Given the description of an element on the screen output the (x, y) to click on. 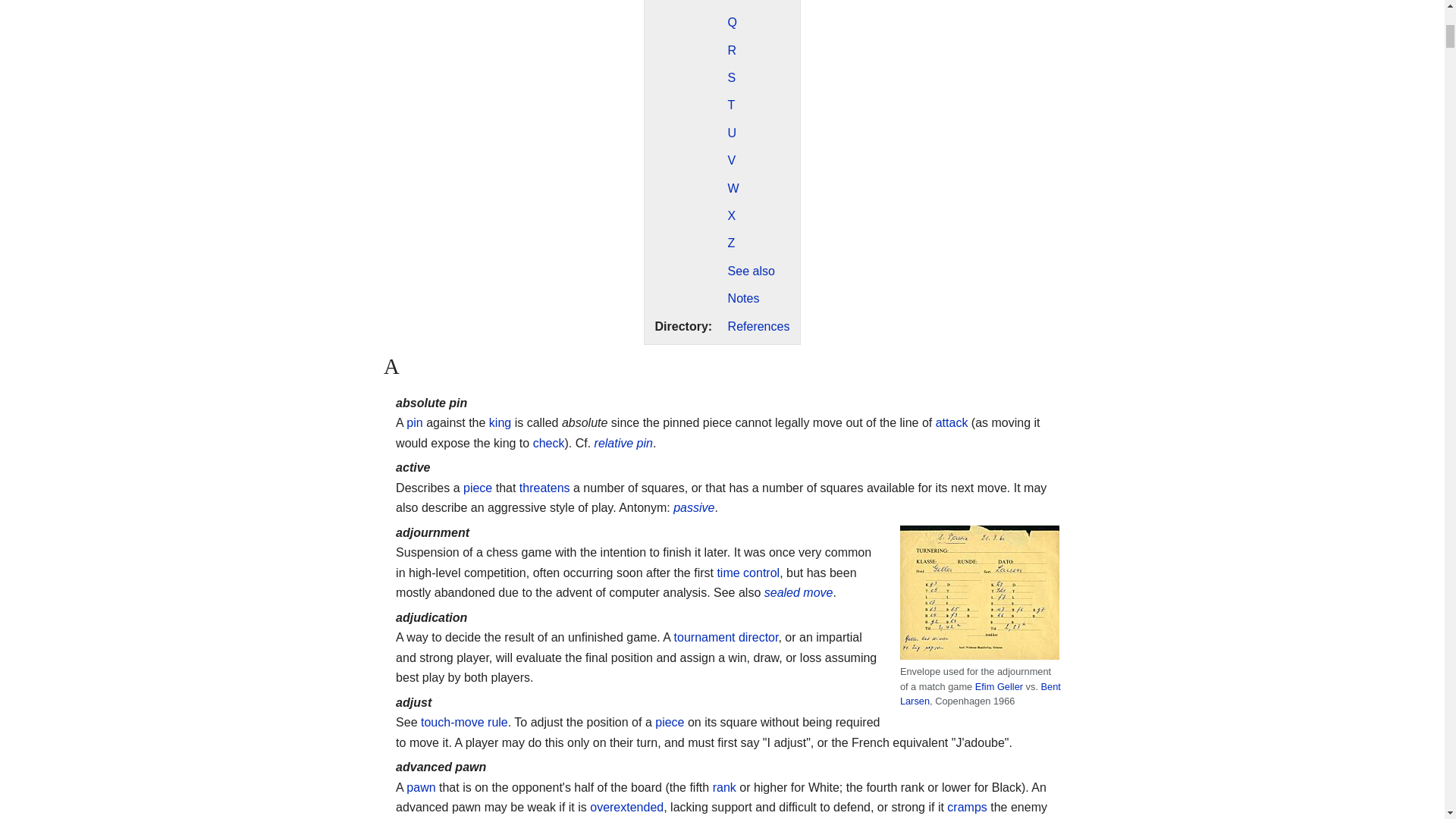
Bent Larsen (980, 693)
Efim Geller (999, 686)
